Given the description of an element on the screen output the (x, y) to click on. 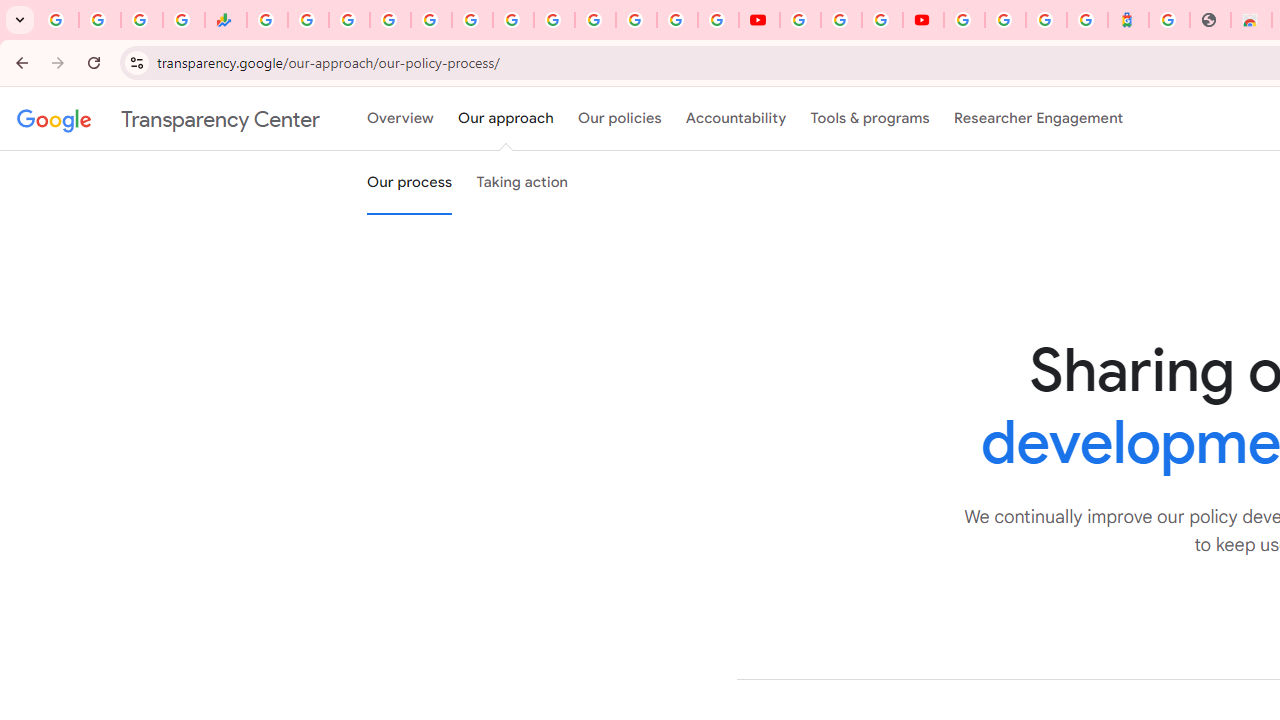
Sign in - Google Accounts (676, 20)
Sign in - Google Accounts (1005, 20)
Google Workspace Admin Community (58, 20)
Sign in - Google Accounts (389, 20)
Atour Hotel - Google hotels (1128, 20)
